Given the description of an element on the screen output the (x, y) to click on. 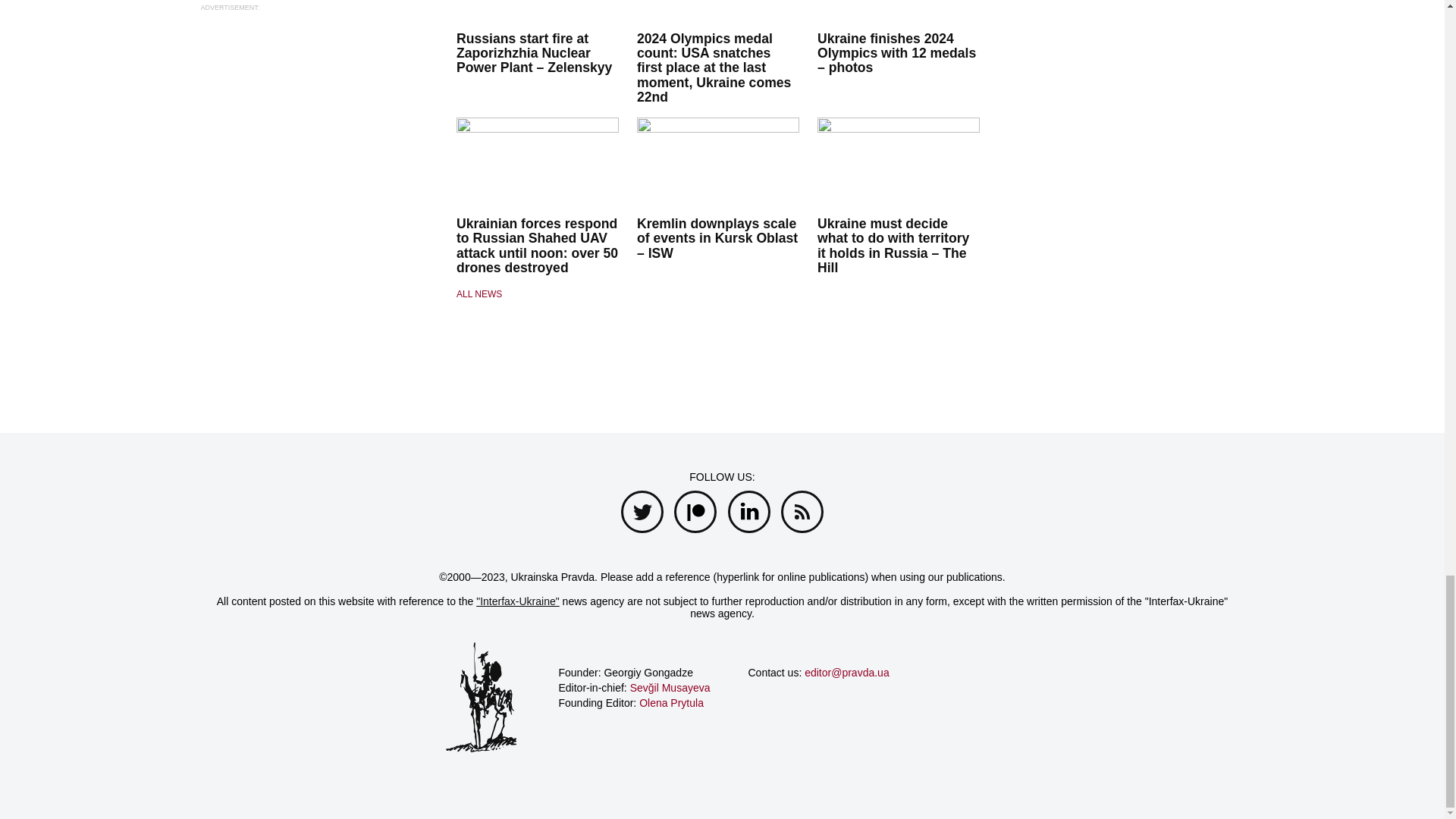
ALL NEWS (537, 294)
